Given the description of an element on the screen output the (x, y) to click on. 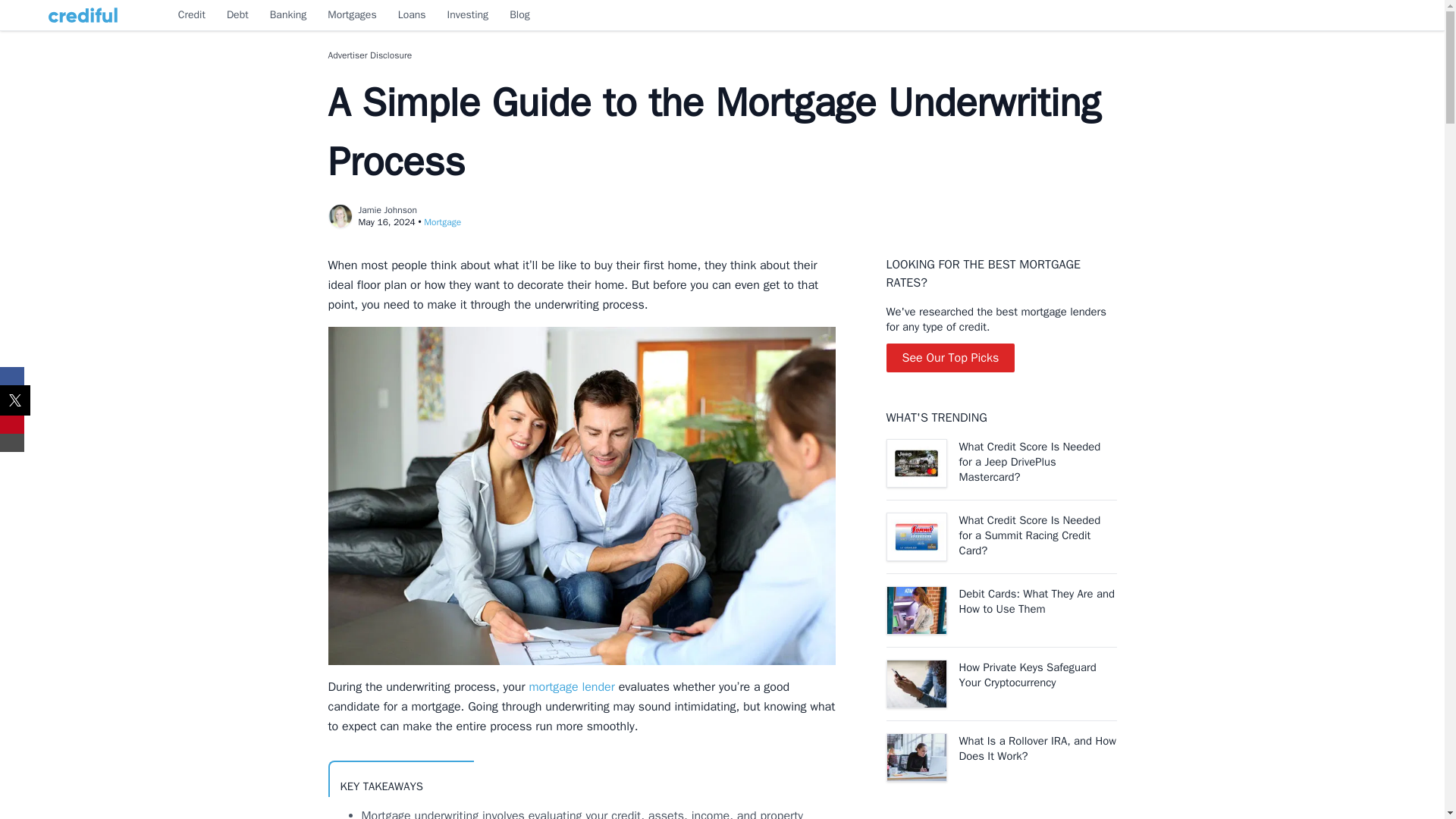
Credit (191, 15)
Debt (237, 15)
Banking (288, 15)
